Given the description of an element on the screen output the (x, y) to click on. 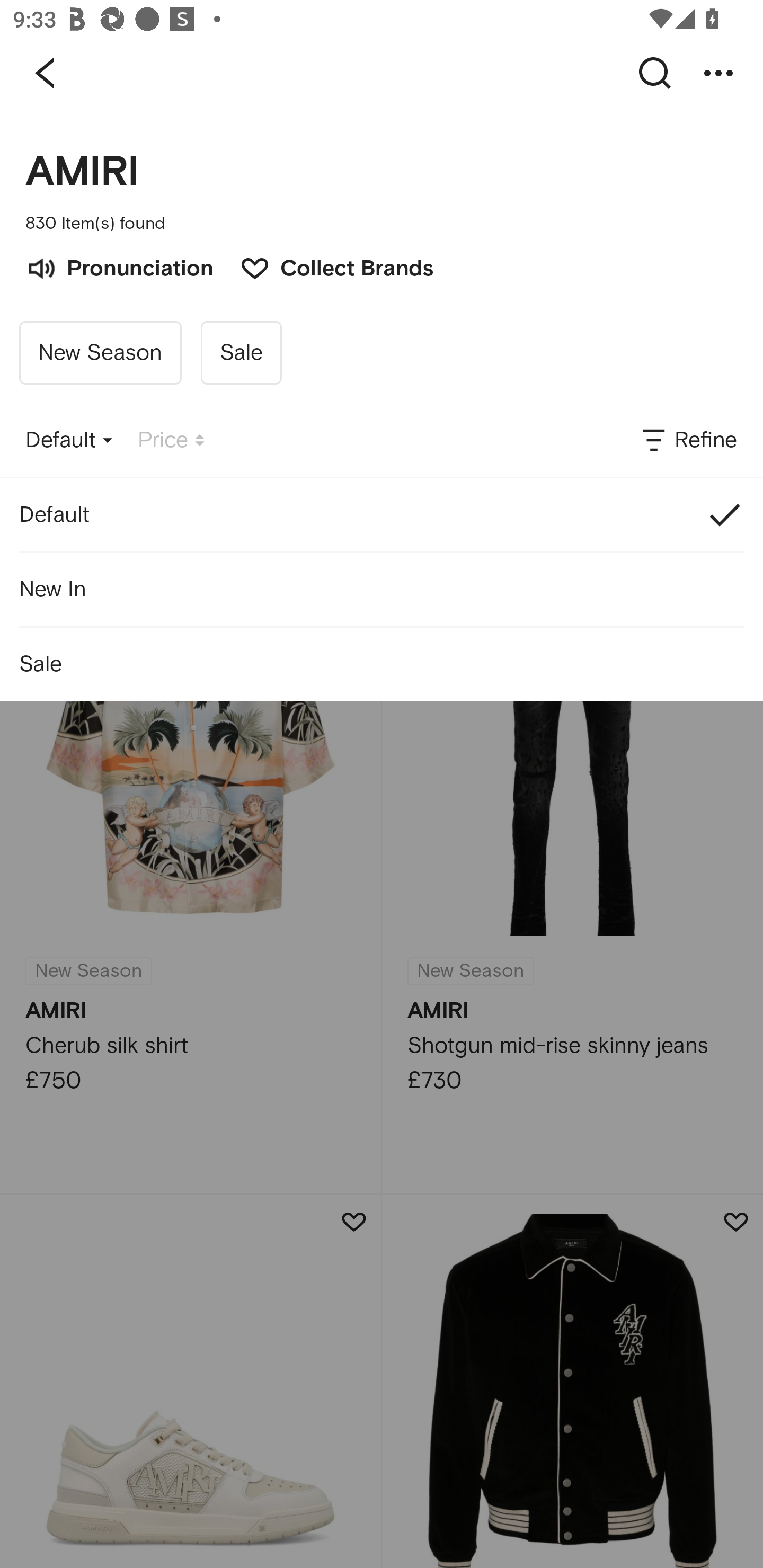
Pronunciation (119, 266)
Collect Brands (327, 266)
New Season (100, 352)
Sale (240, 352)
Default (68, 440)
Price (171, 440)
Refine (688, 440)
Default (381, 514)
New In (381, 588)
Sale (381, 663)
